Given the description of an element on the screen output the (x, y) to click on. 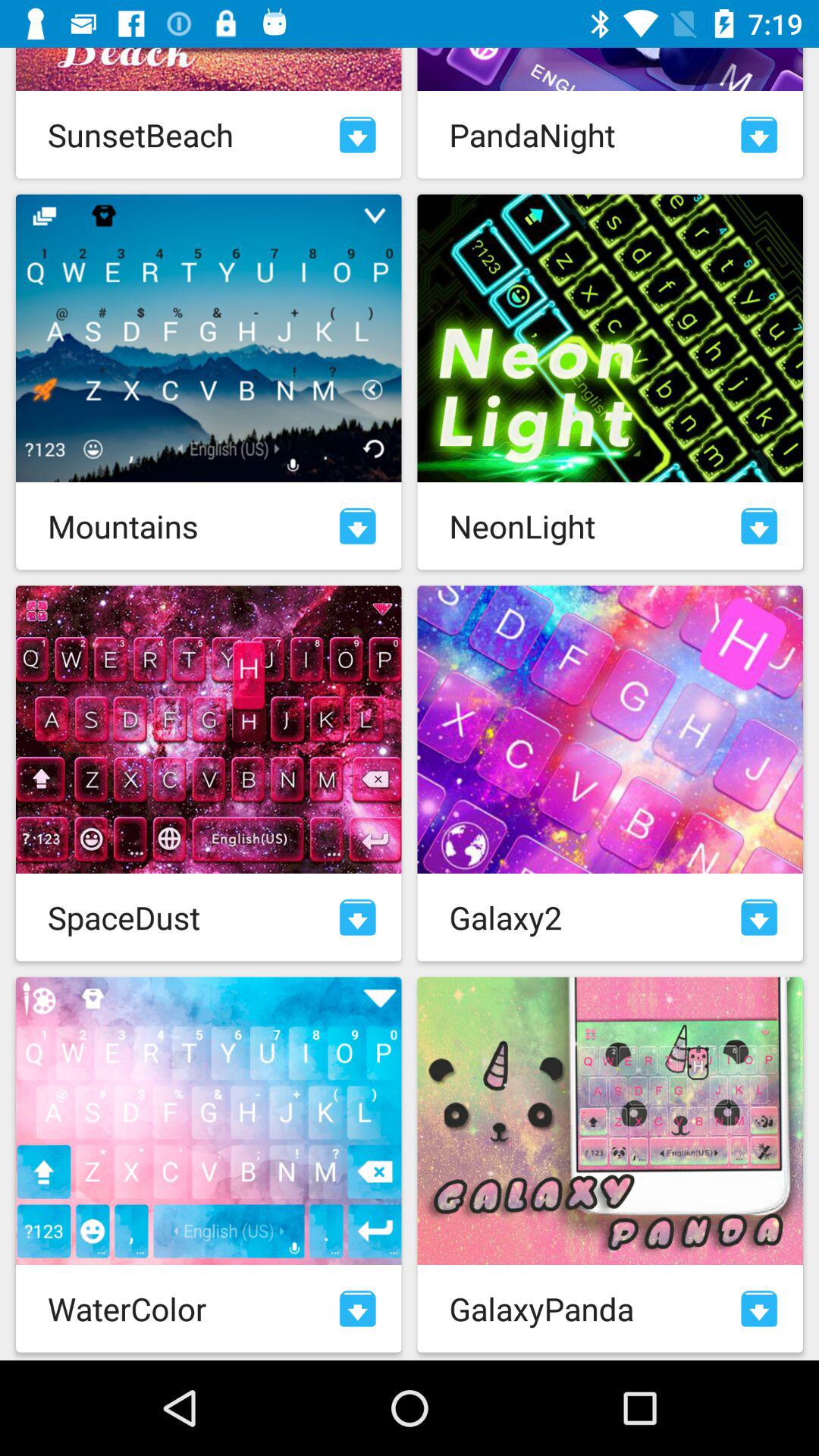
select option (759, 525)
